Given the description of an element on the screen output the (x, y) to click on. 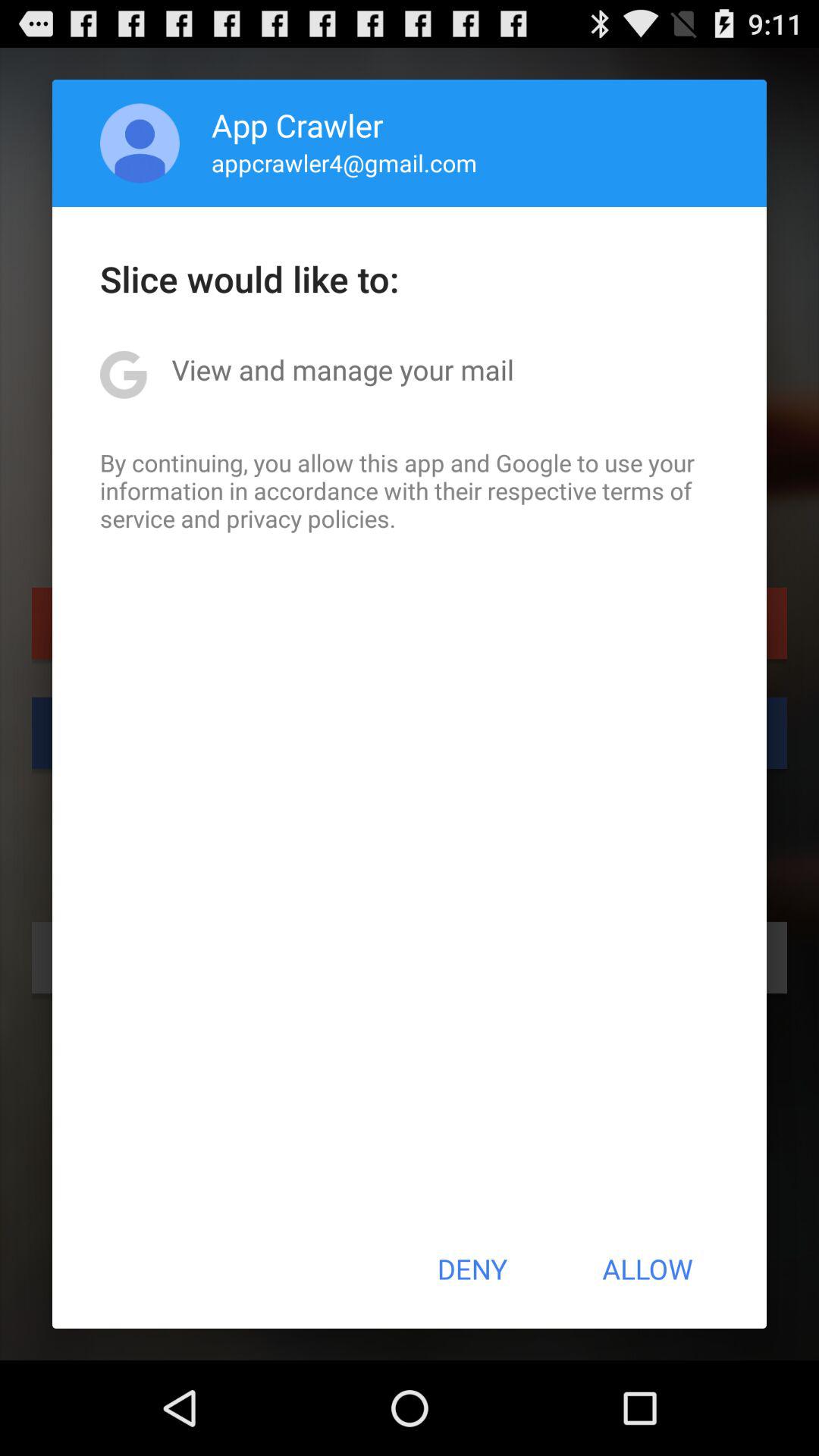
open appcrawler4@gmail.com app (344, 162)
